Given the description of an element on the screen output the (x, y) to click on. 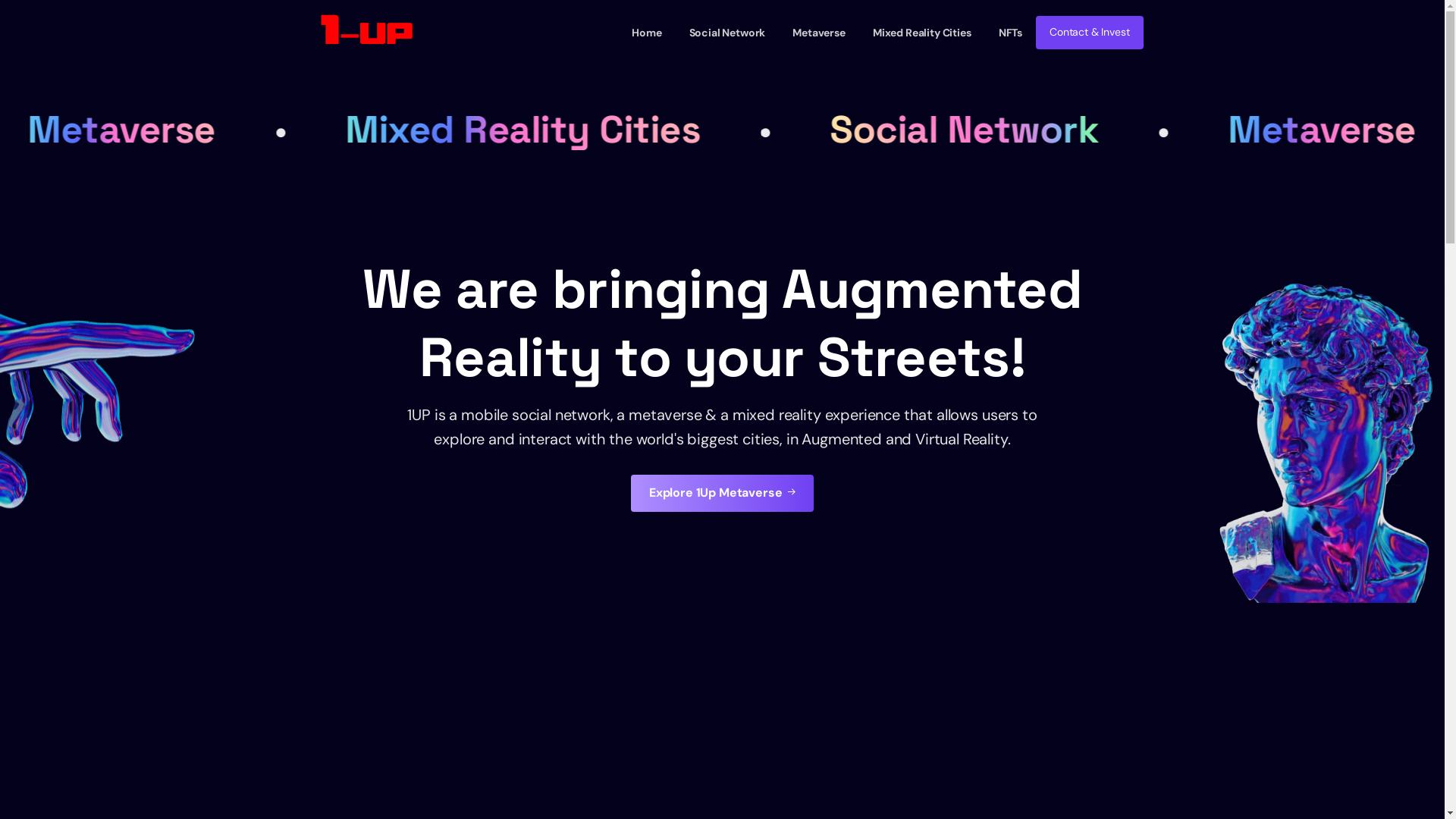
Social Network Element type: text (988, 129)
Contact & Invest Element type: text (1088, 31)
Home Element type: text (646, 32)
NFTs Element type: text (1010, 32)
Explore 1Up Metaverse Element type: text (721, 492)
Mixed Reality Cities Element type: text (548, 129)
Metaverse Element type: text (148, 129)
Mixed Reality Cities Element type: text (921, 32)
Social Network Element type: text (727, 32)
Metaverse Element type: text (818, 32)
